Given the description of an element on the screen output the (x, y) to click on. 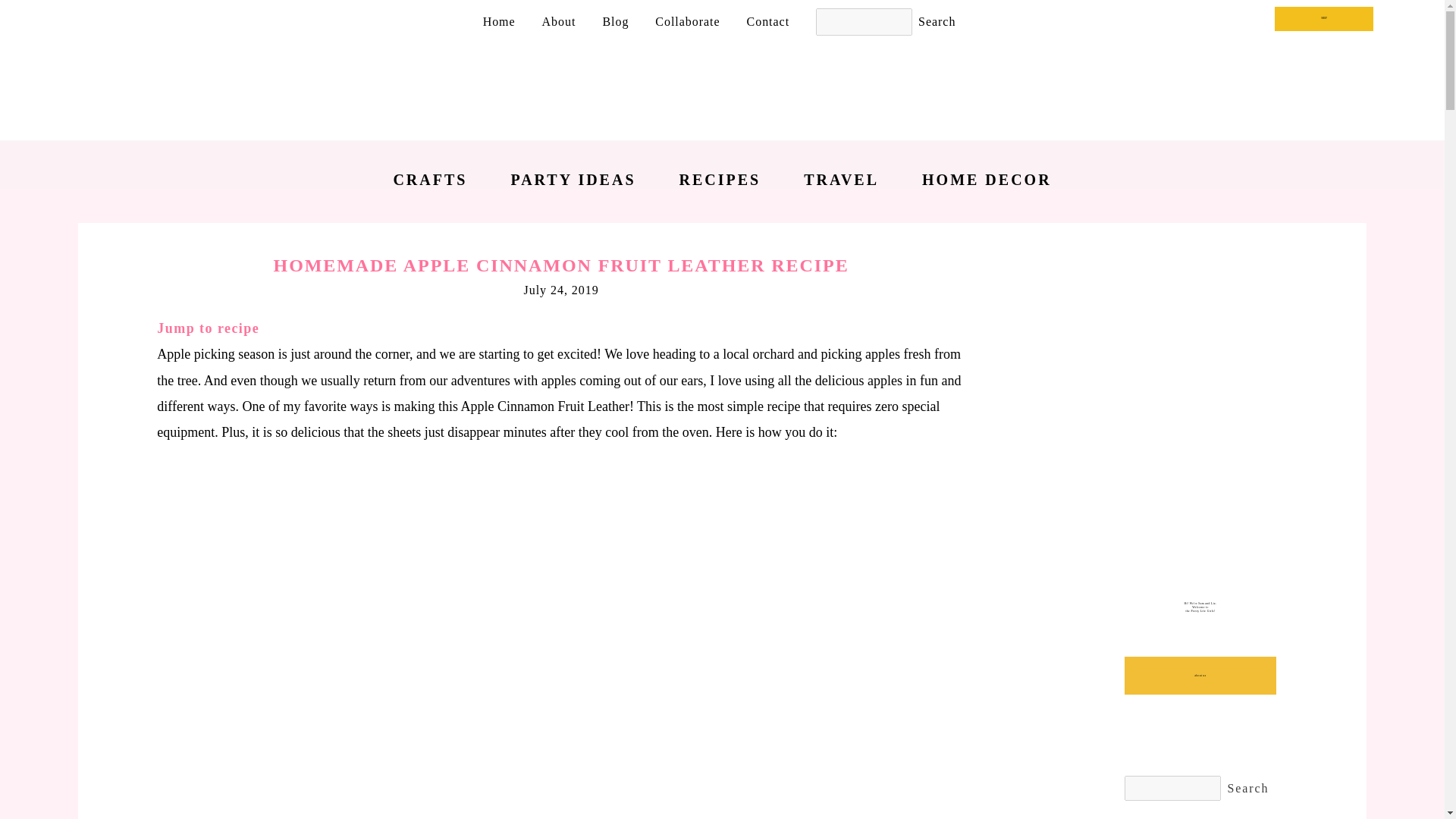
Search (1247, 788)
Search (1247, 788)
Search (936, 21)
HOME DECOR (986, 179)
RECIPES (720, 179)
TRAVEL (841, 179)
SHOP (1324, 18)
Jump to recipe (208, 328)
Collaborate (687, 21)
Search (936, 21)
